Given the description of an element on the screen output the (x, y) to click on. 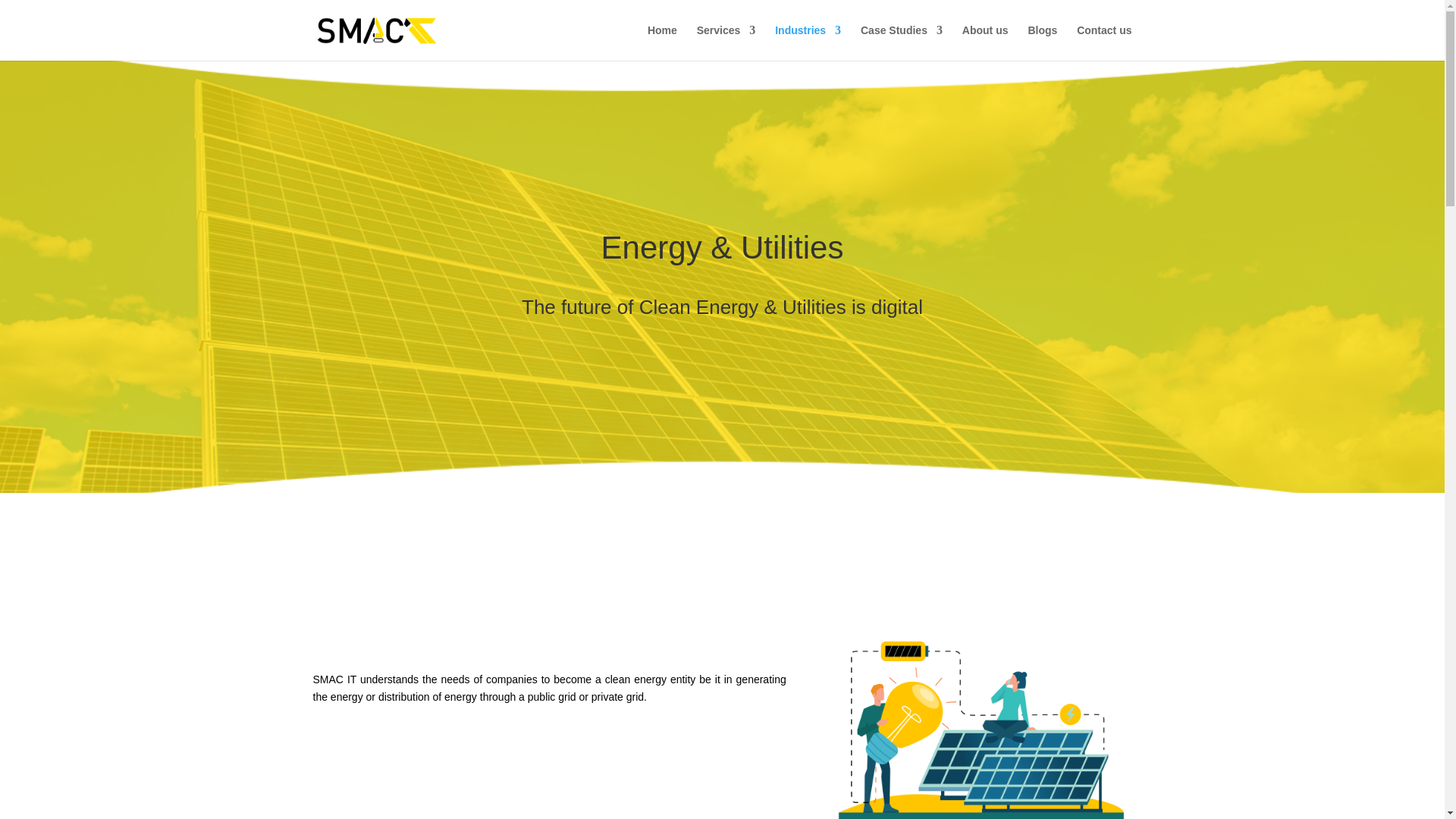
About us (985, 42)
Services (726, 42)
Industries (807, 42)
Contact us (1104, 42)
Case Studies (901, 42)
